Given the description of an element on the screen output the (x, y) to click on. 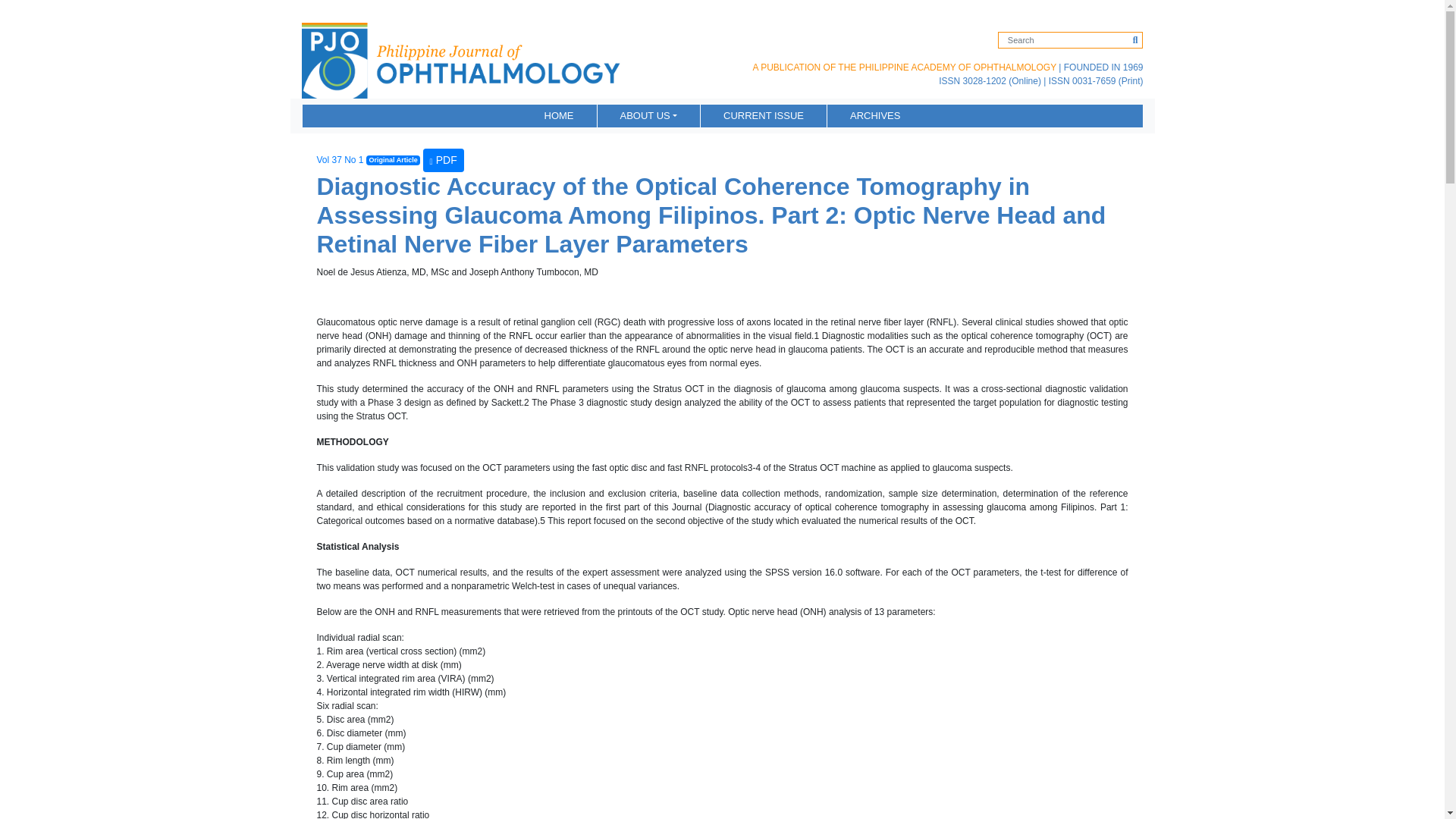
ABOUT US (649, 115)
PDF (443, 159)
CURRENT ISSUE (763, 115)
HOME (558, 115)
Vol 37 No 1 (340, 158)
ARCHIVES (874, 115)
